Given the description of an element on the screen output the (x, y) to click on. 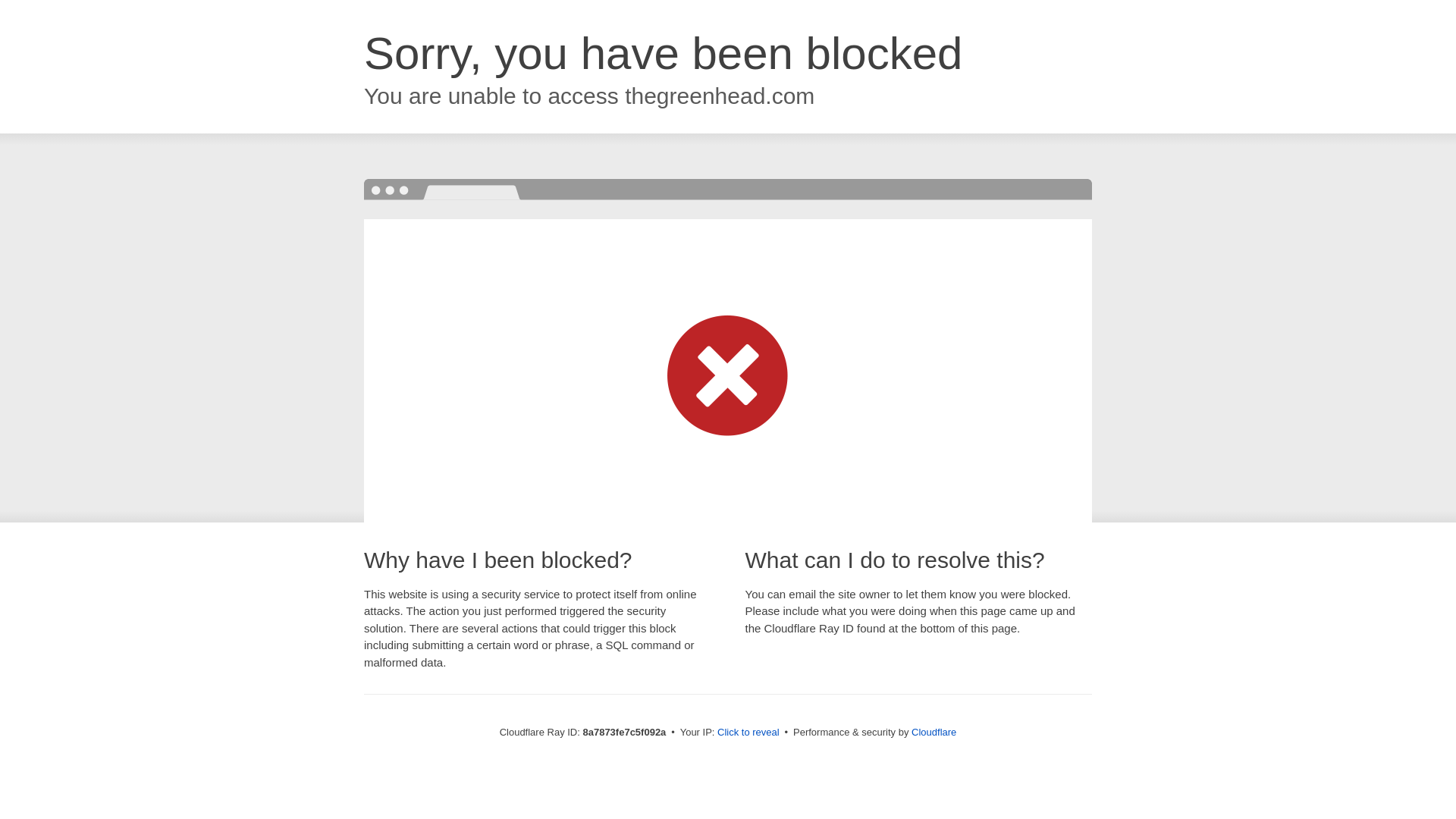
Click to reveal (747, 732)
Cloudflare (933, 731)
